Given the description of an element on the screen output the (x, y) to click on. 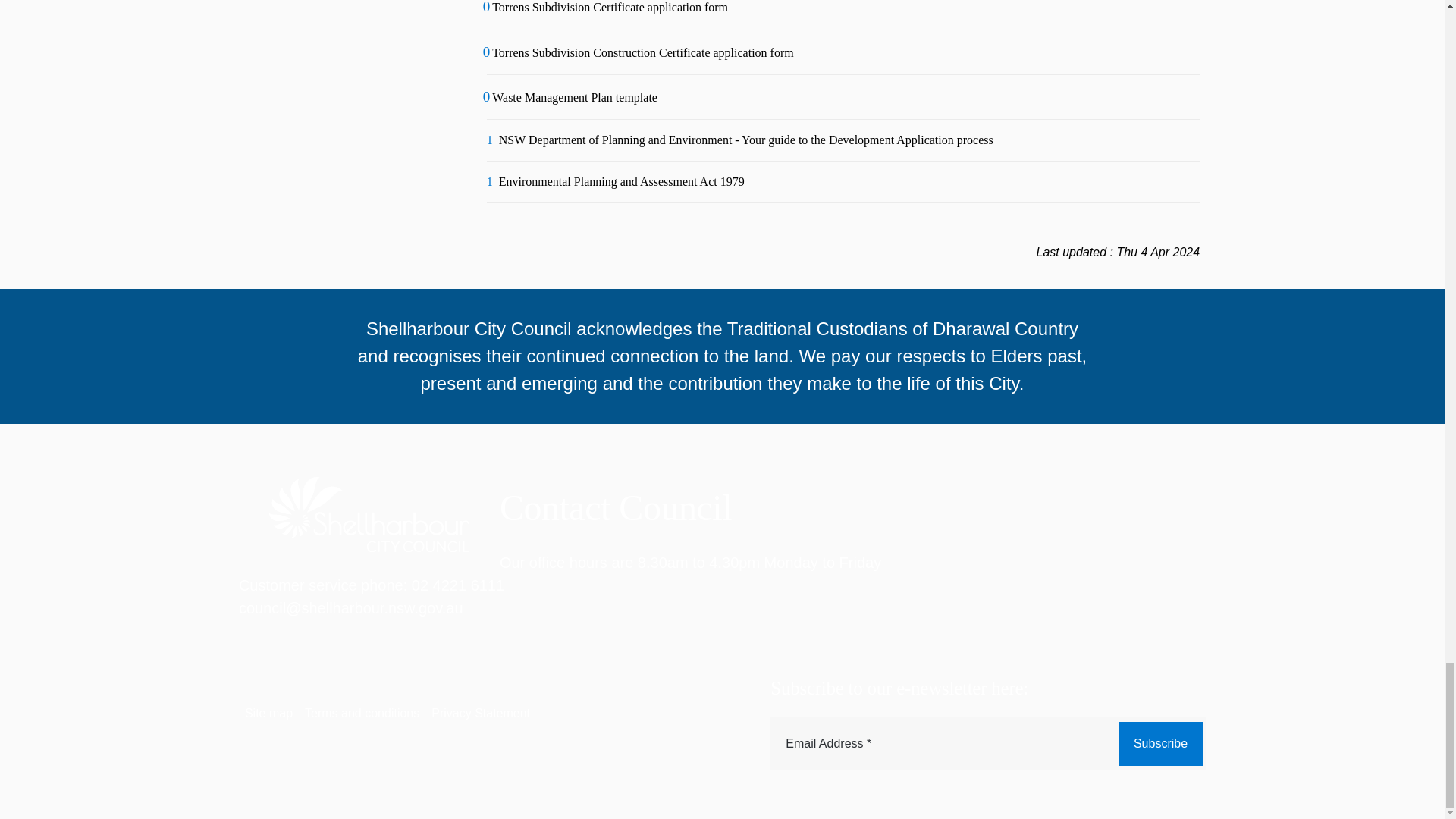
Follow us on LinkedIn (1184, 773)
Opens in a new window (1141, 772)
Opens in a new window (1184, 772)
Follow us on Facebook (1097, 773)
Follow us on Instagram (1141, 773)
Opens in a new window (1097, 772)
Subscribe (1160, 743)
